Given the description of an element on the screen output the (x, y) to click on. 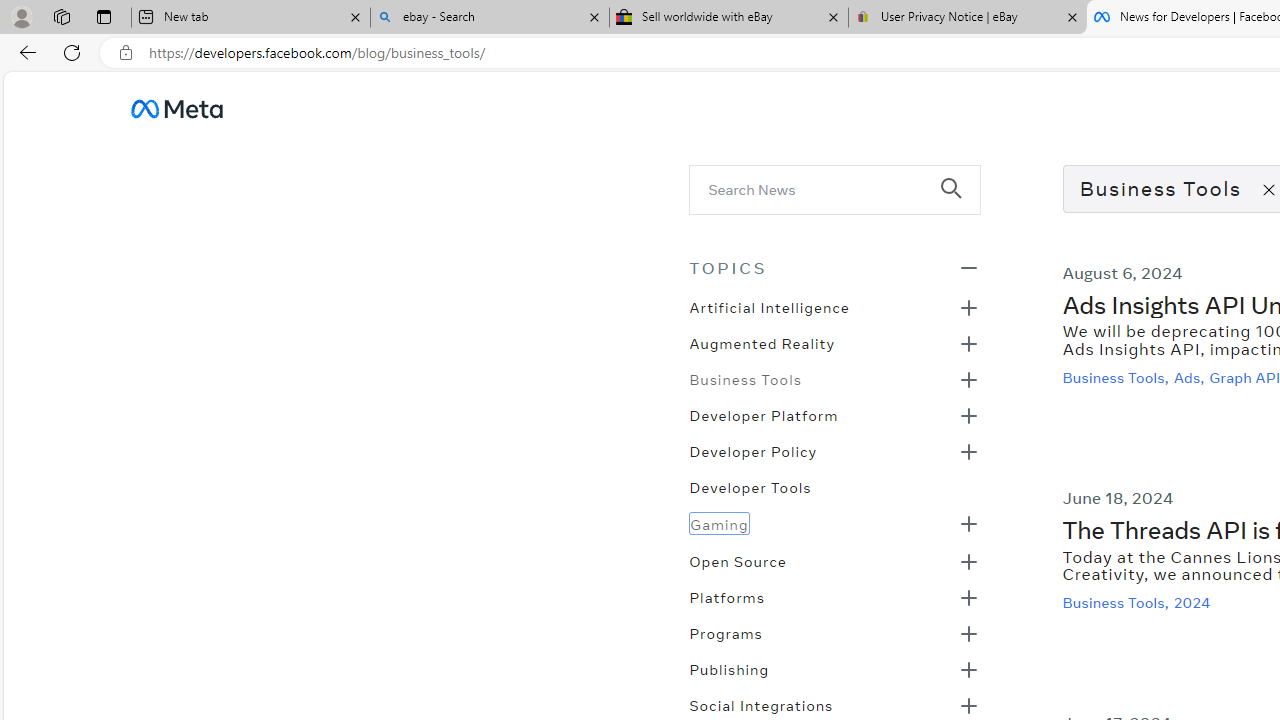
Developer Tools (749, 485)
